Given the description of an element on the screen output the (x, y) to click on. 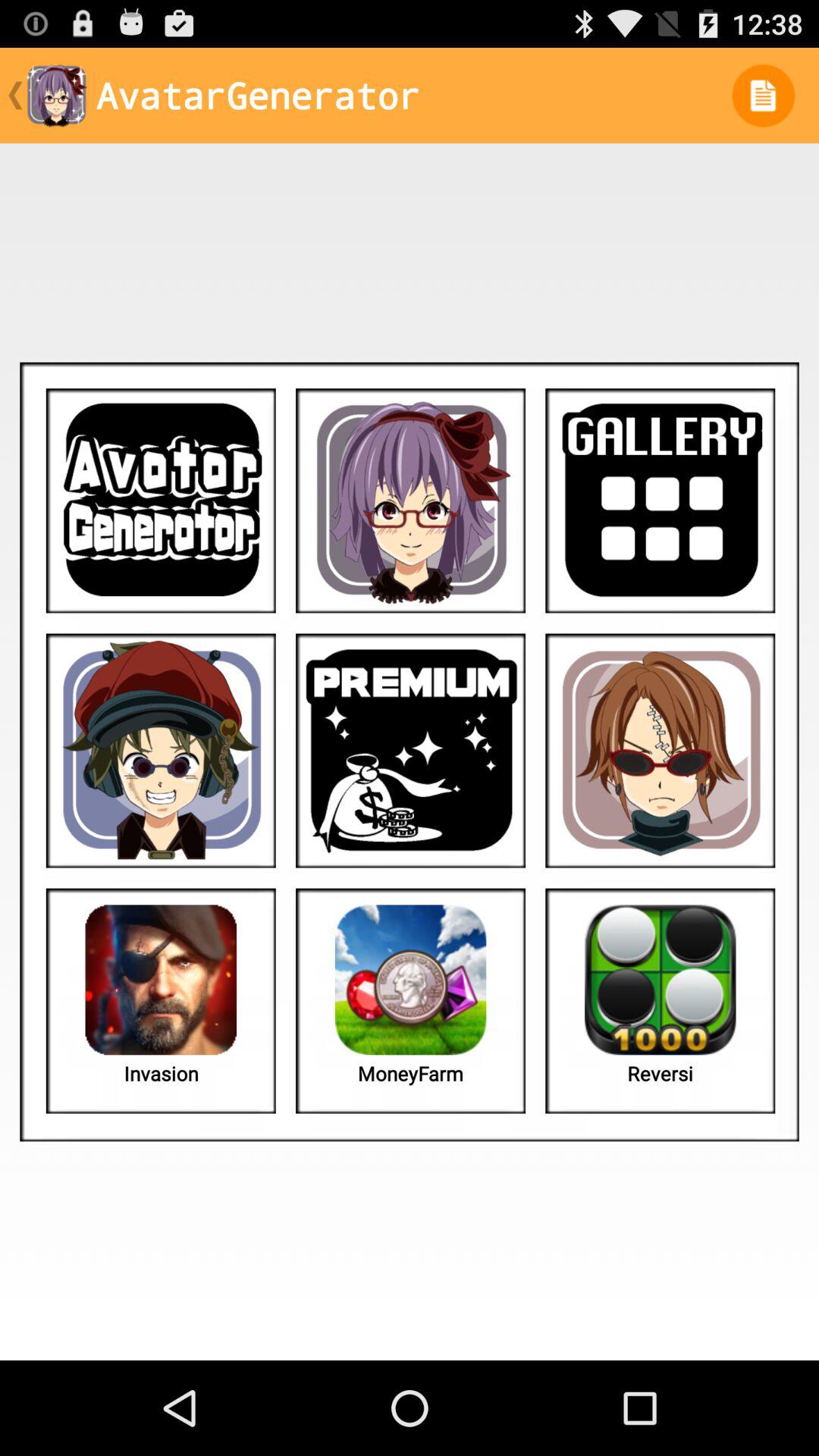
content picture (160, 750)
